Given the description of an element on the screen output the (x, y) to click on. 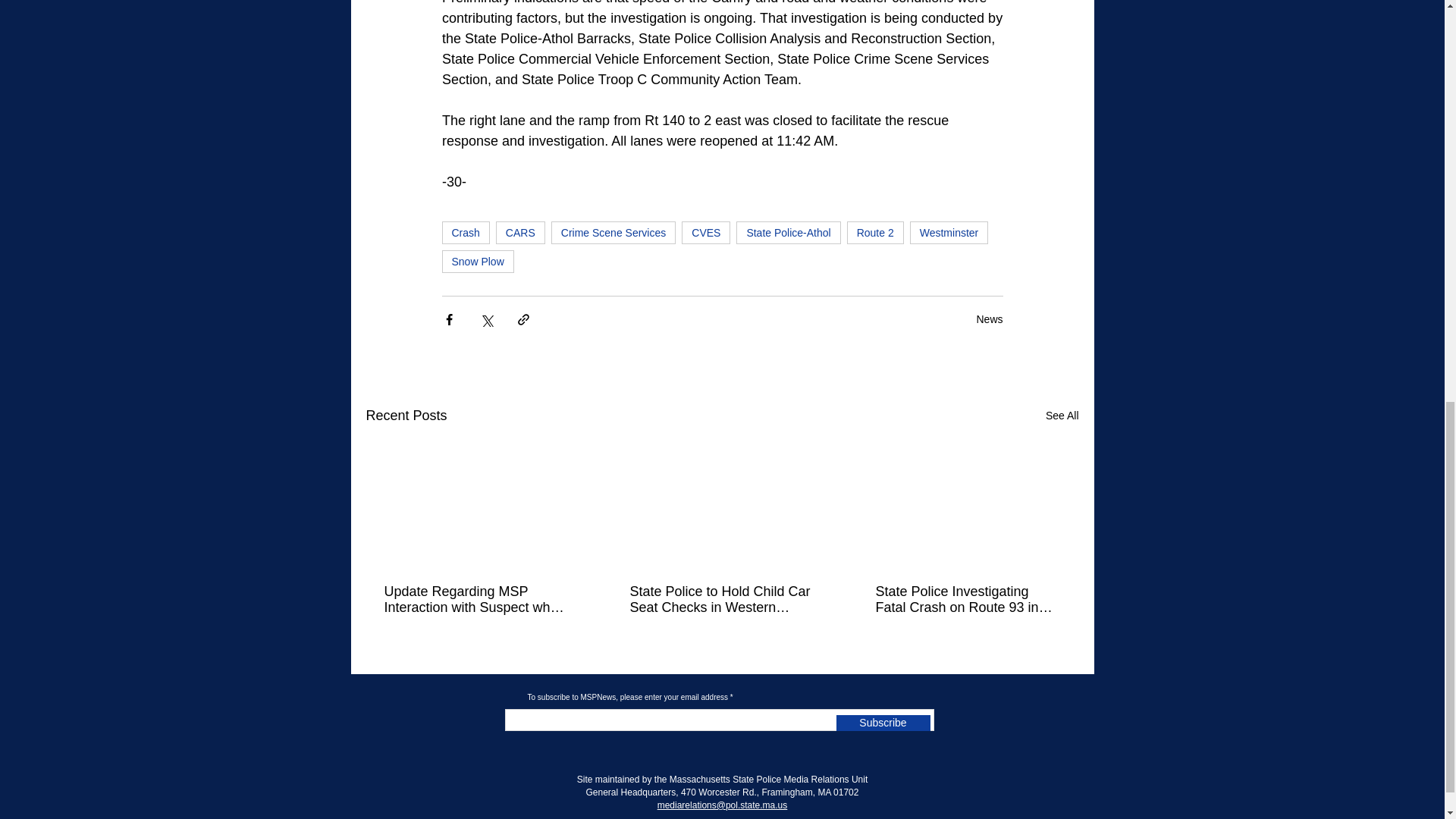
Crime Scene Services (614, 232)
See All (1061, 415)
Route 2 (875, 232)
News (989, 318)
Subscribe (882, 722)
Westminster (949, 232)
CVES (705, 232)
Crash (465, 232)
State Police Investigating Fatal Crash on Route 93 in Boston (966, 599)
Snow Plow (477, 261)
State Police-Athol (788, 232)
CARS (520, 232)
